Given the description of an element on the screen output the (x, y) to click on. 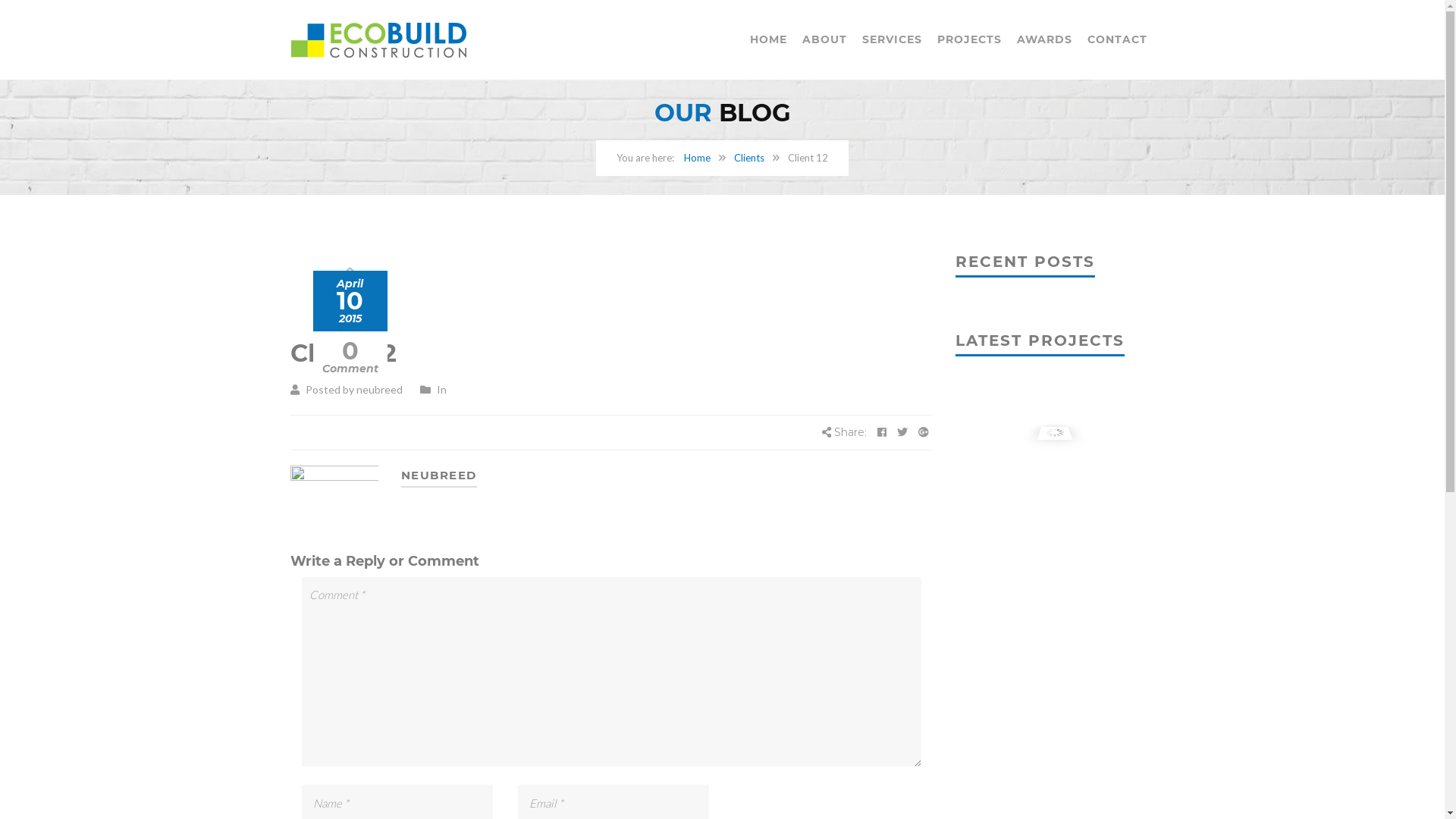
Home Element type: text (697, 157)
Clients Element type: text (749, 157)
SERVICES Element type: text (891, 39)
ABOUT Element type: text (824, 39)
CONTACT Element type: text (1117, 39)
HOME Element type: text (767, 39)
PROJECTS Element type: text (969, 39)
AWARDS Element type: text (1043, 39)
